Given the description of an element on the screen output the (x, y) to click on. 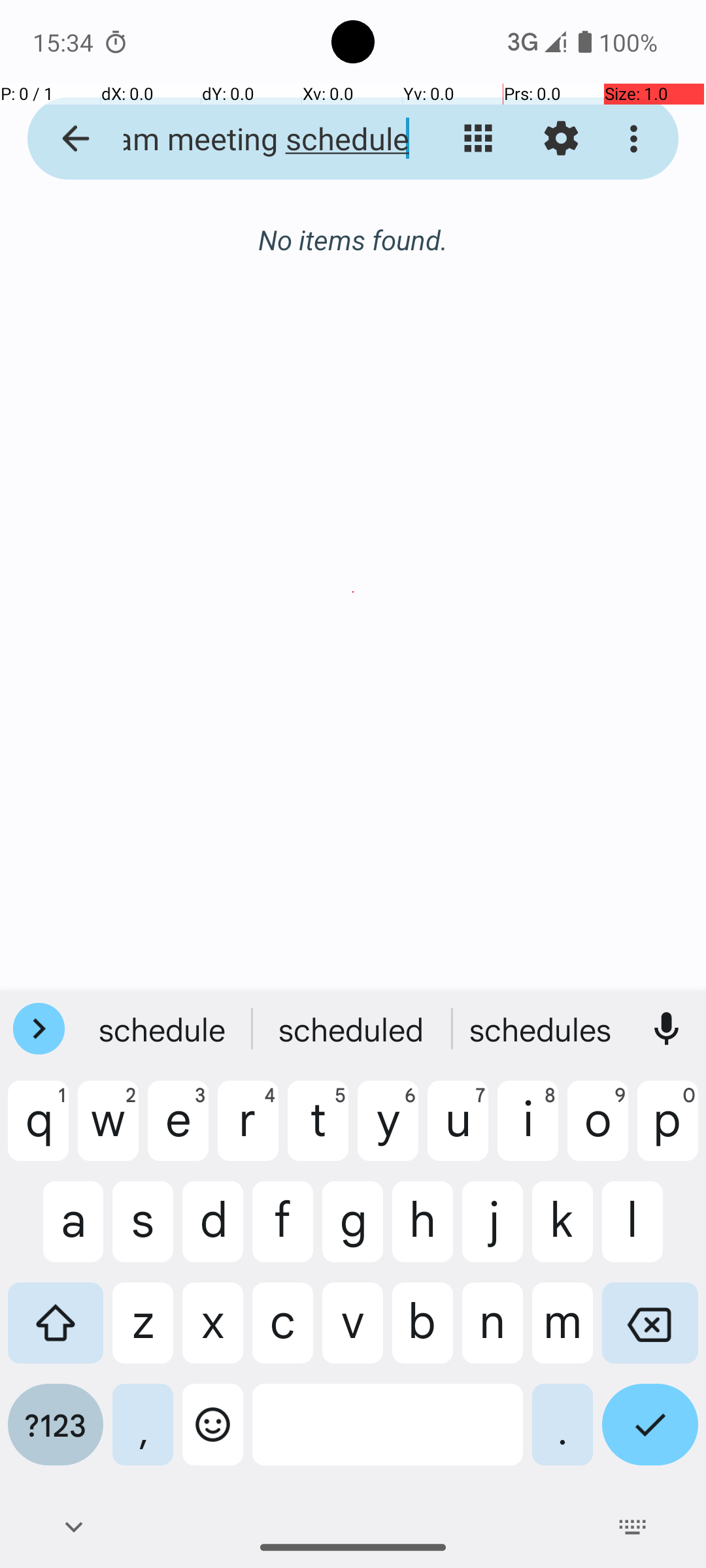
Team meeting schedule Element type: android.widget.EditText (252, 138)
Task Element type: android.widget.TextView (535, 805)
Event Element type: android.widget.TextView (530, 915)
October 15 (Sun) Element type: android.widget.TextView (352, 253)
Catch up on Annual Report Element type: android.widget.TextView (373, 321)
05:00 - 06:00 Element type: android.widget.TextView (137, 362)
We will plan annual budget. Element type: android.widget.TextView (373, 397)
schedule Element type: android.widget.FrameLayout (163, 1028)
scheduled Element type: android.widget.FrameLayout (352, 1028)
